Given the description of an element on the screen output the (x, y) to click on. 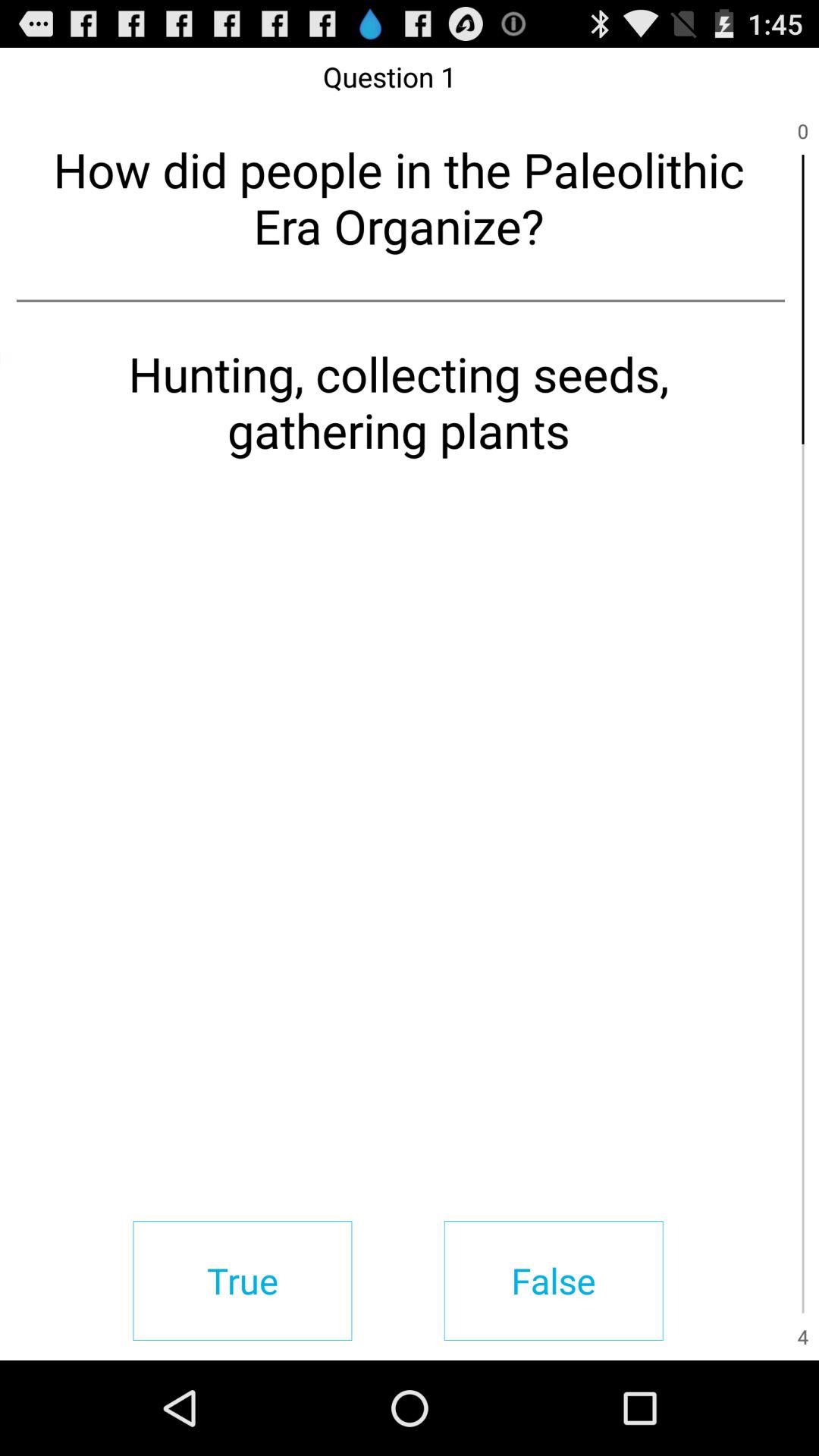
tap icon next to true item (553, 1280)
